Given the description of an element on the screen output the (x, y) to click on. 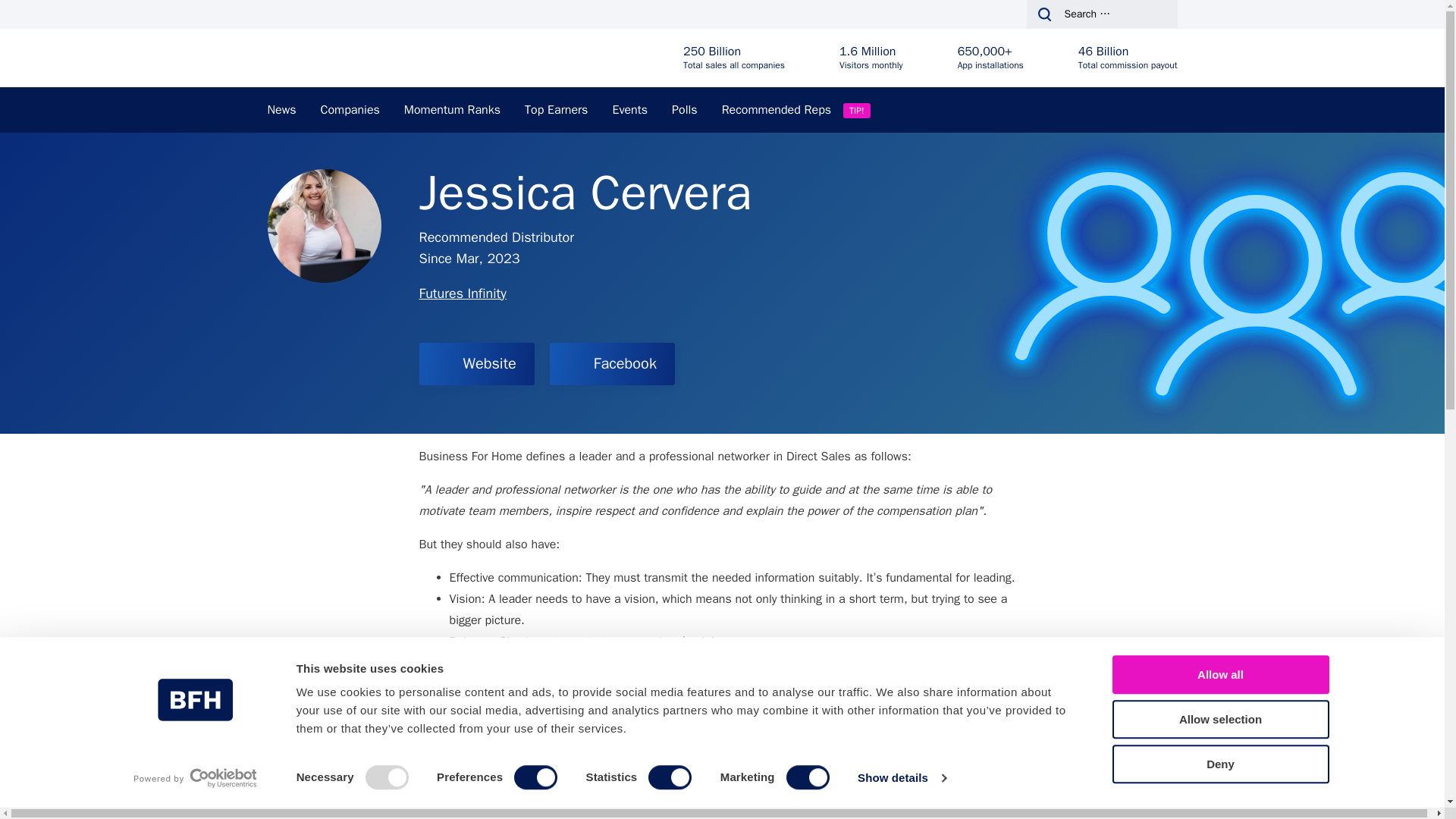
Show details (900, 777)
